Given the description of an element on the screen output the (x, y) to click on. 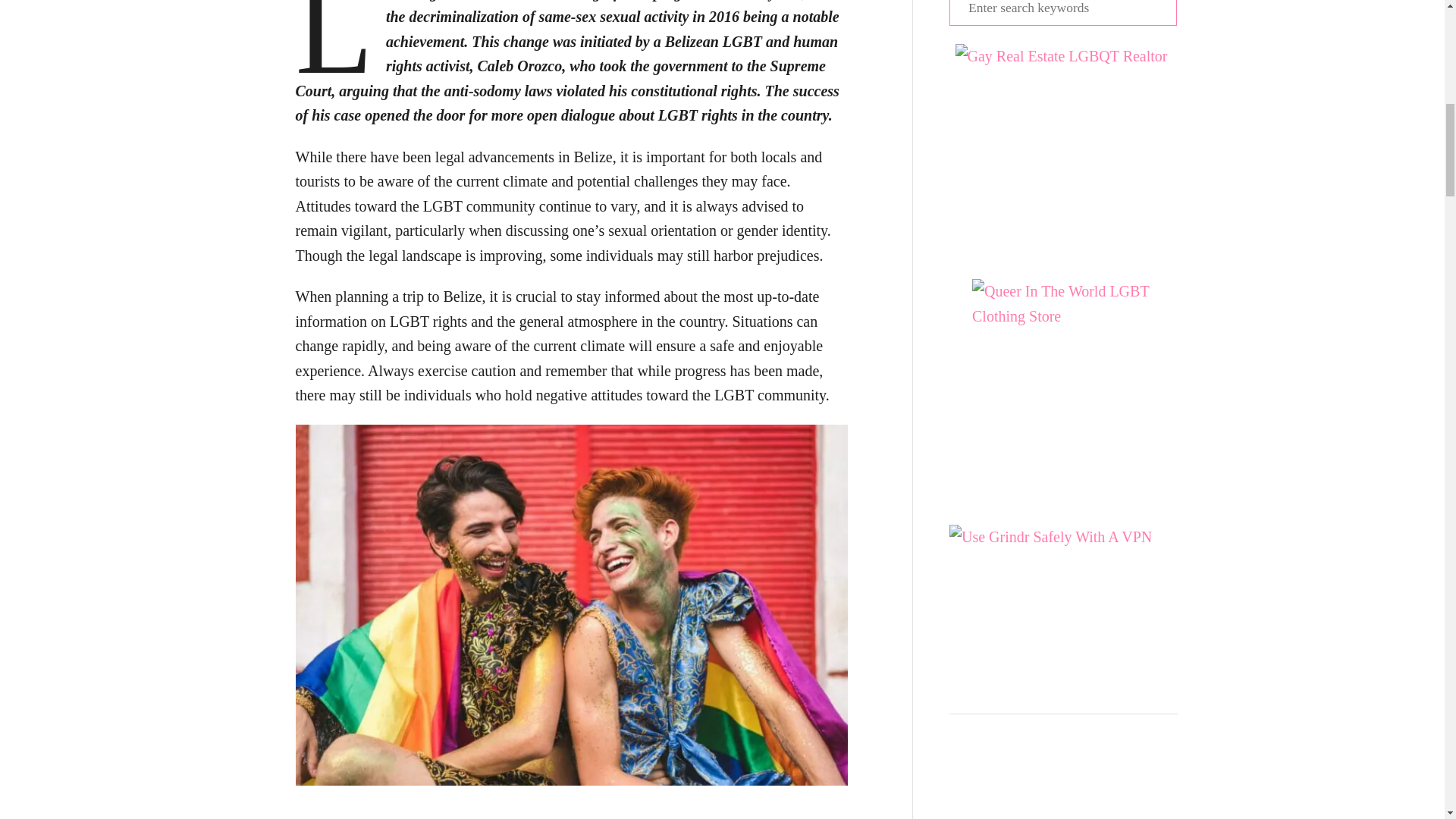
Search for: (1062, 12)
